Given the description of an element on the screen output the (x, y) to click on. 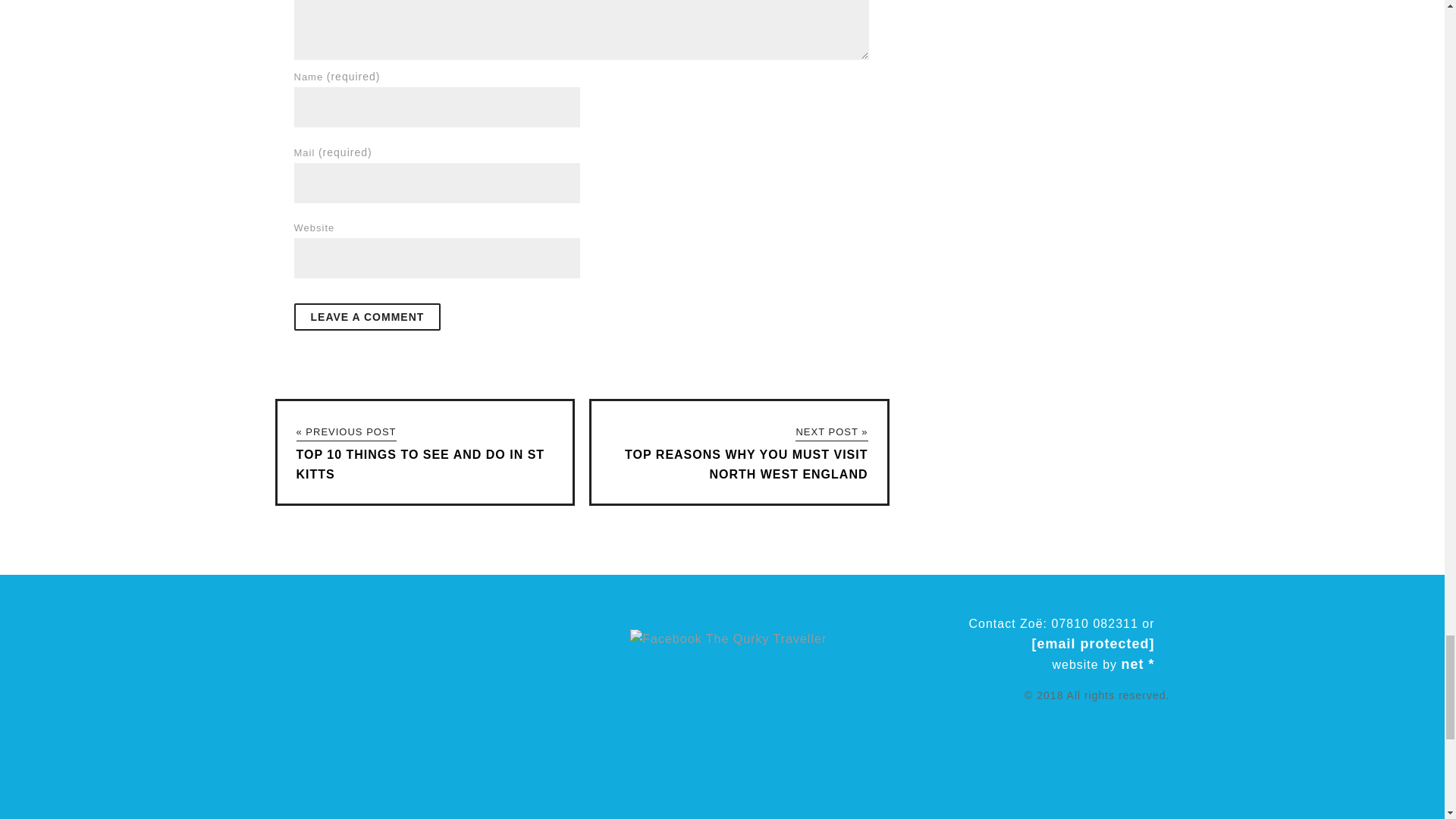
Leave a Comment (367, 316)
